Given the description of an element on the screen output the (x, y) to click on. 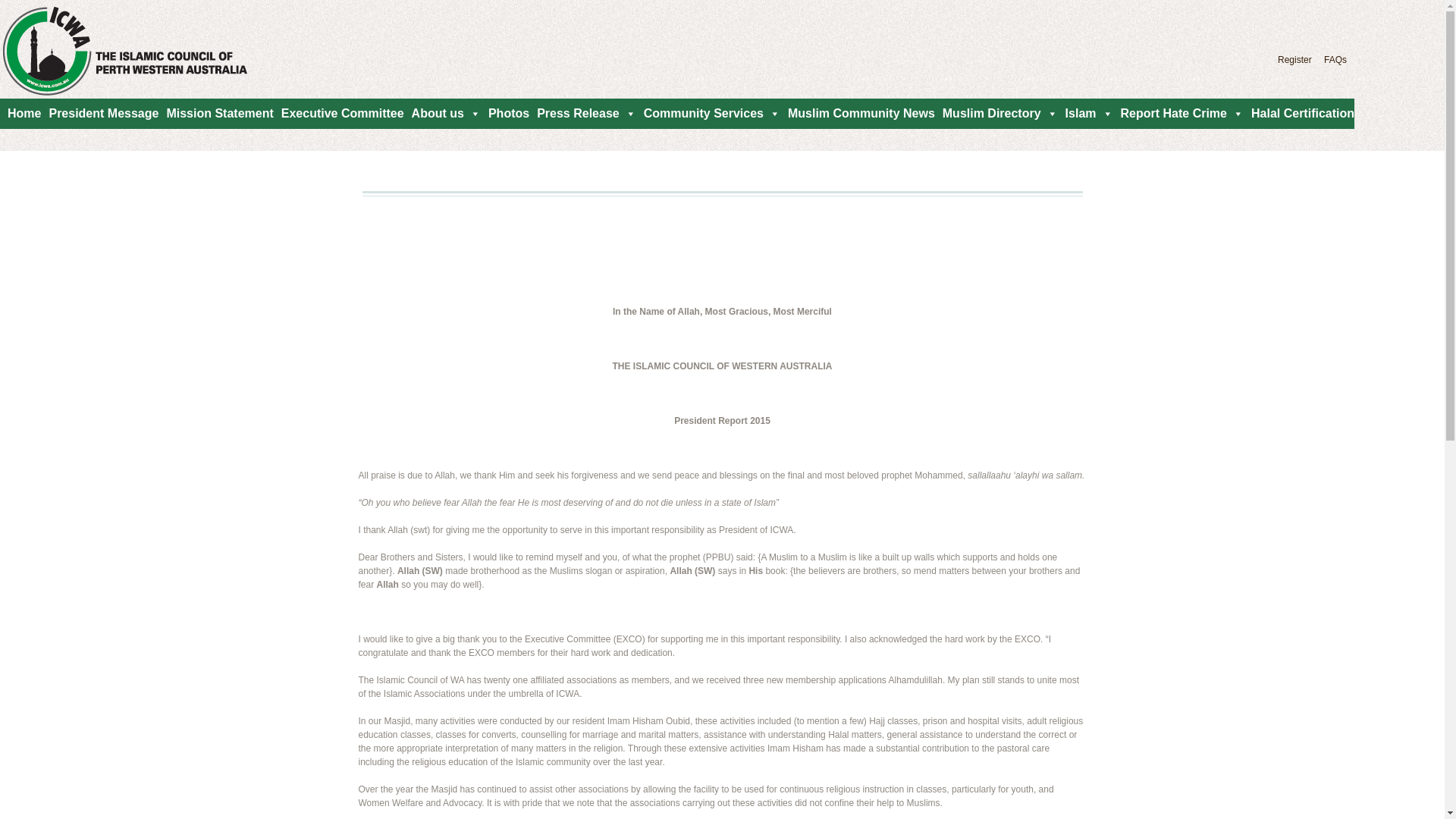
Muslim Community News Element type: text (857, 113)
Register Element type: text (1294, 59)
Home Element type: text (20, 113)
Community Services Element type: text (708, 113)
FAQs Element type: text (1335, 59)
Halal Certification Element type: text (1298, 113)
Photos Element type: text (504, 113)
Islamic Council of Western Australia Element type: hover (140, 50)
Muslim Directory Element type: text (996, 113)
Executive Committee Element type: text (338, 113)
About us Element type: text (442, 113)
Mission Statement Element type: text (215, 113)
President Message Element type: text (99, 113)
Press Release Element type: text (582, 113)
Report Hate Crime Element type: text (1178, 113)
Islam Element type: text (1085, 113)
